Given the description of an element on the screen output the (x, y) to click on. 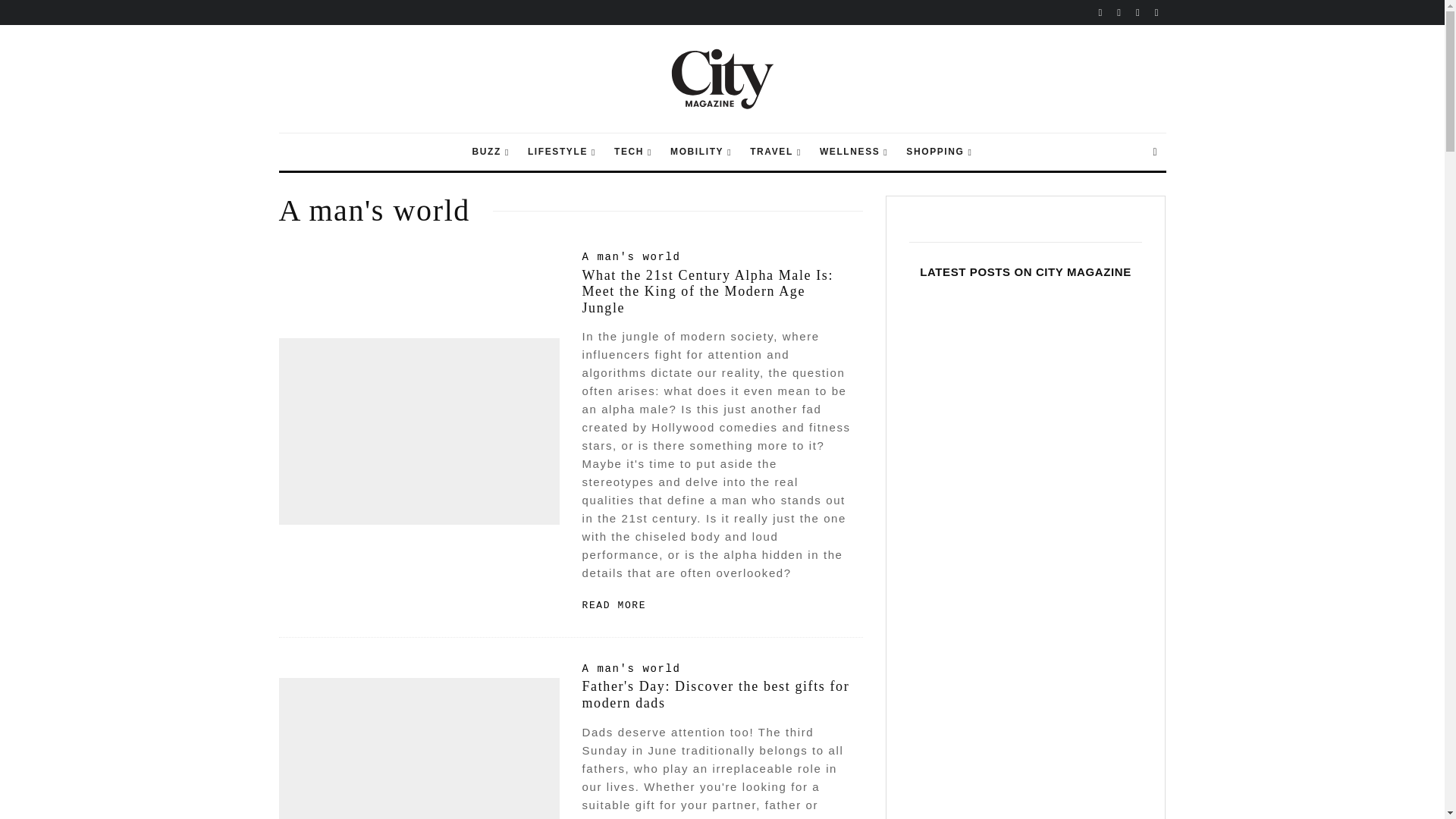
LIFESTYLE (561, 151)
BUZZ (490, 151)
